Given the description of an element on the screen output the (x, y) to click on. 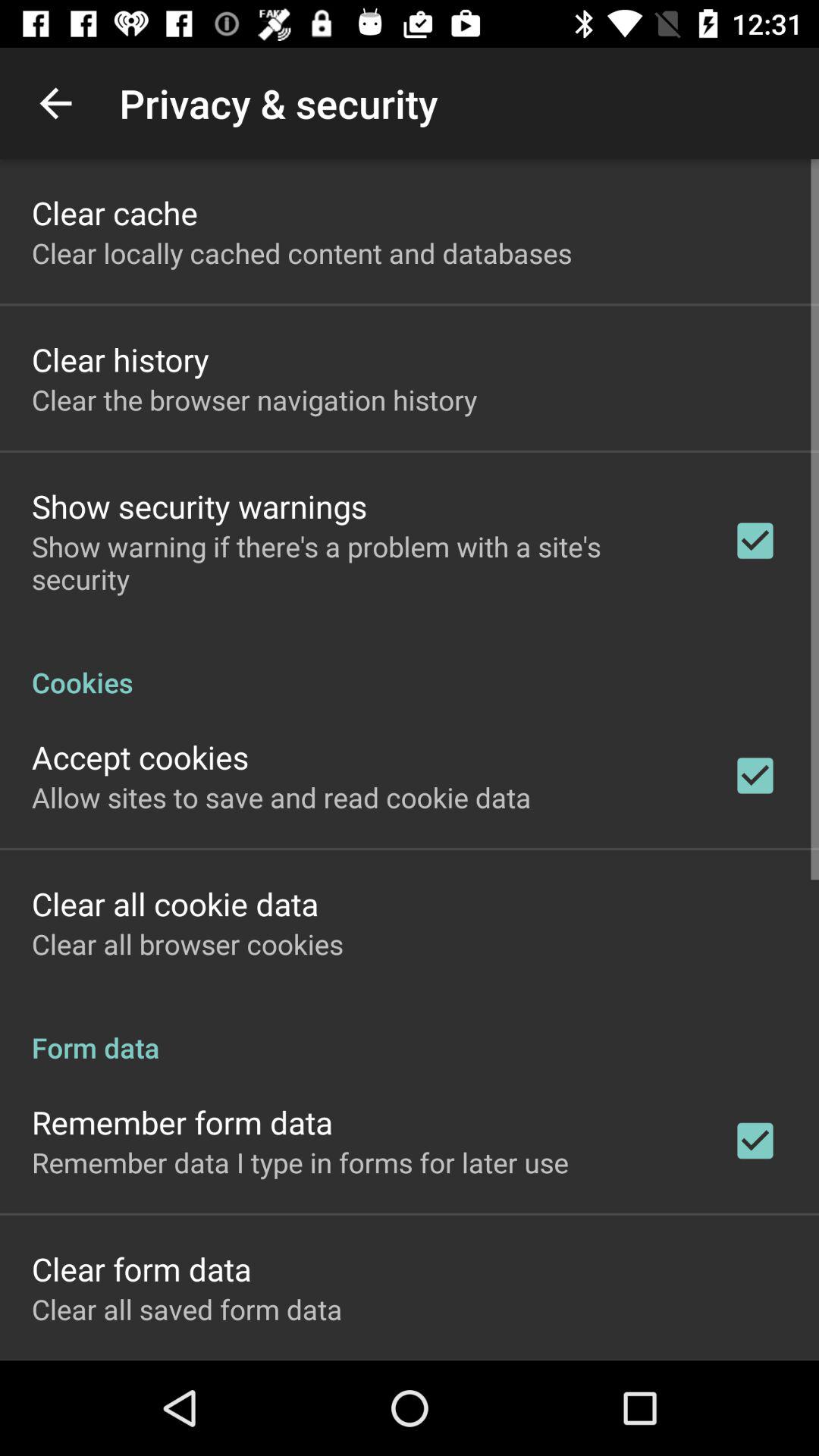
open the app above the clear history app (301, 252)
